Given the description of an element on the screen output the (x, y) to click on. 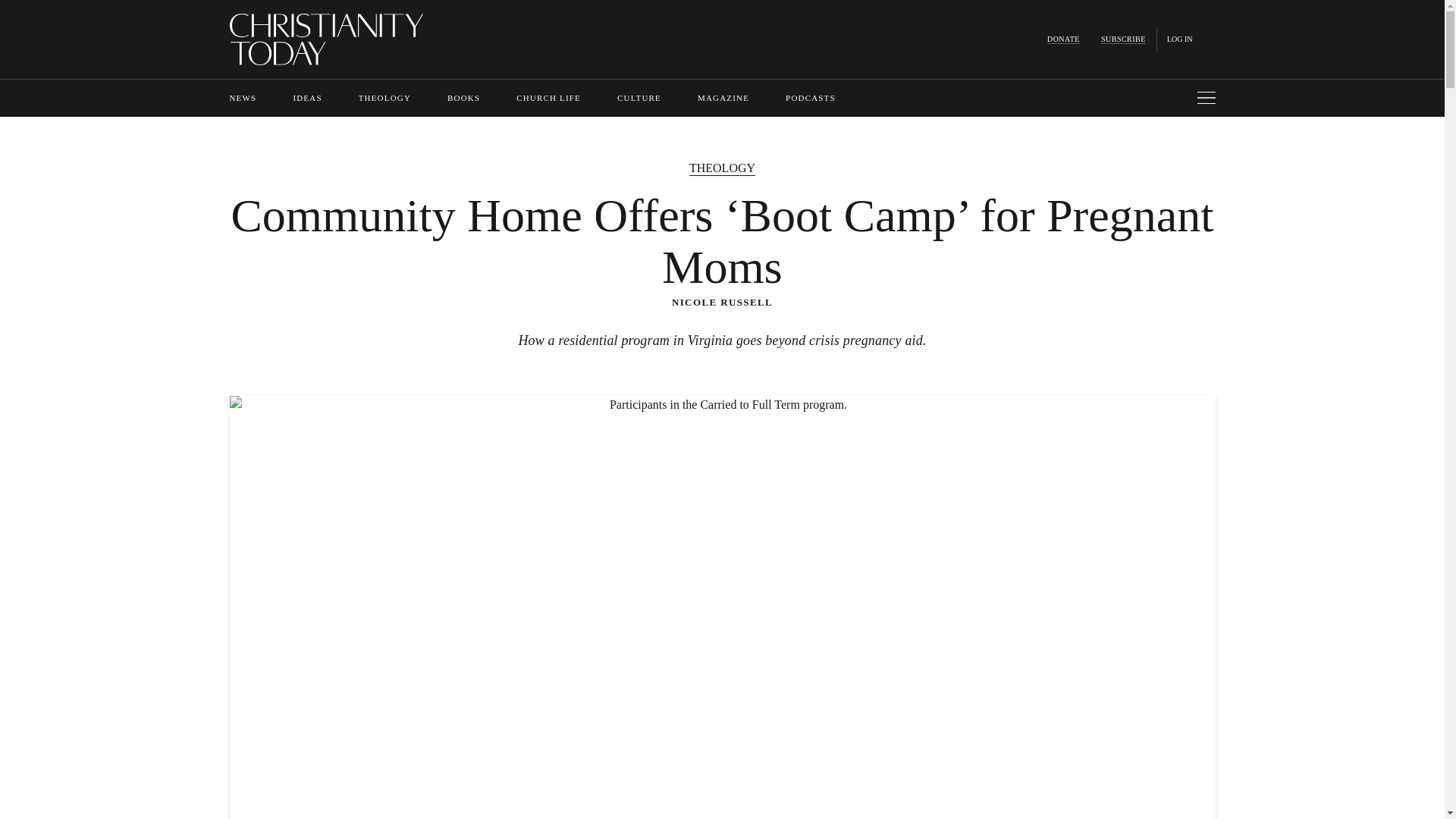
PODCASTS (810, 97)
CULTURE (639, 97)
DONATE (1063, 39)
CHURCH LIFE (548, 97)
BOOKS (463, 97)
LOG IN (1179, 39)
MAGAZINE (723, 97)
SUBSCRIBE (1122, 39)
THEOLOGY (384, 97)
IDEAS (306, 97)
